Given the description of an element on the screen output the (x, y) to click on. 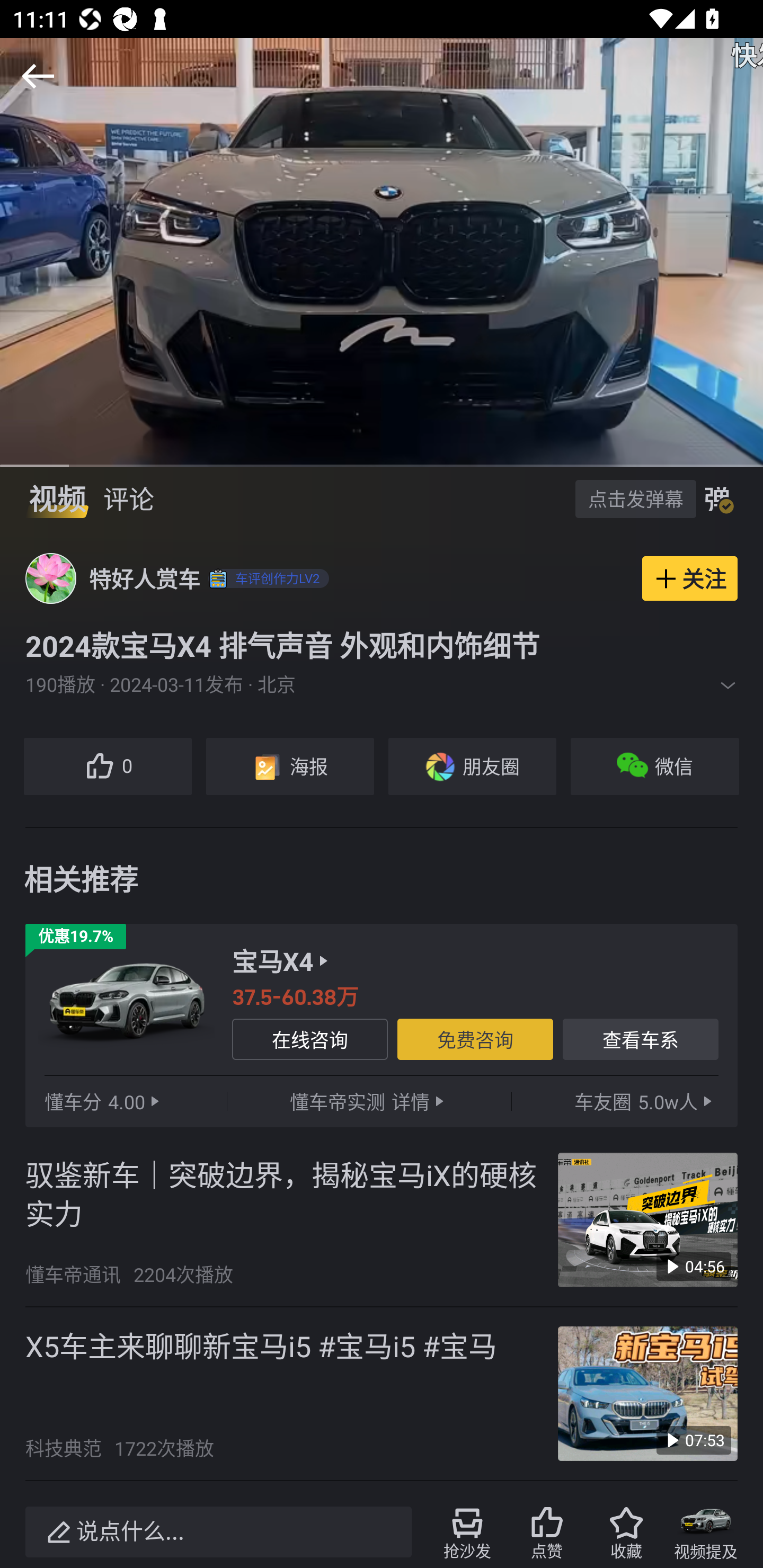
0.0 (381, 252)
 (38, 75)
视频 (57, 499)
评论 (128, 499)
点击发弹幕 (635, 498)
 关注 (689, 578)
特好人赏车 (144, 578)
车评创作力LV2 (265, 578)
2024款宝马X4 排气声音 外观和内饰细节 (381, 644)
 (727, 684)
0 (107, 766)
海报 (289, 766)
朋友圈 (472, 766)
微信 (654, 766)
在线咨询 (309, 1039)
免费咨询 (475, 1039)
查看车系 (640, 1039)
懂车分 4.00  (104, 1101)
懂车帝实测 详情  (368, 1101)
车友圈 5.0w人  (645, 1101)
驭鉴新车｜突破边界，揭秘宝马iX的硬核实力 懂车帝通讯 2204次播放  04:56 (381, 1220)
X5车主来聊聊新宝马i5 #宝马i5 #宝马 科技典范 1722次播放  07:53 (381, 1394)
 抢沙发 (467, 1531)
点赞 (546, 1531)
收藏 (625, 1531)
视频提及 (705, 1531)
 说点什么... (218, 1531)
